Given the description of an element on the screen output the (x, y) to click on. 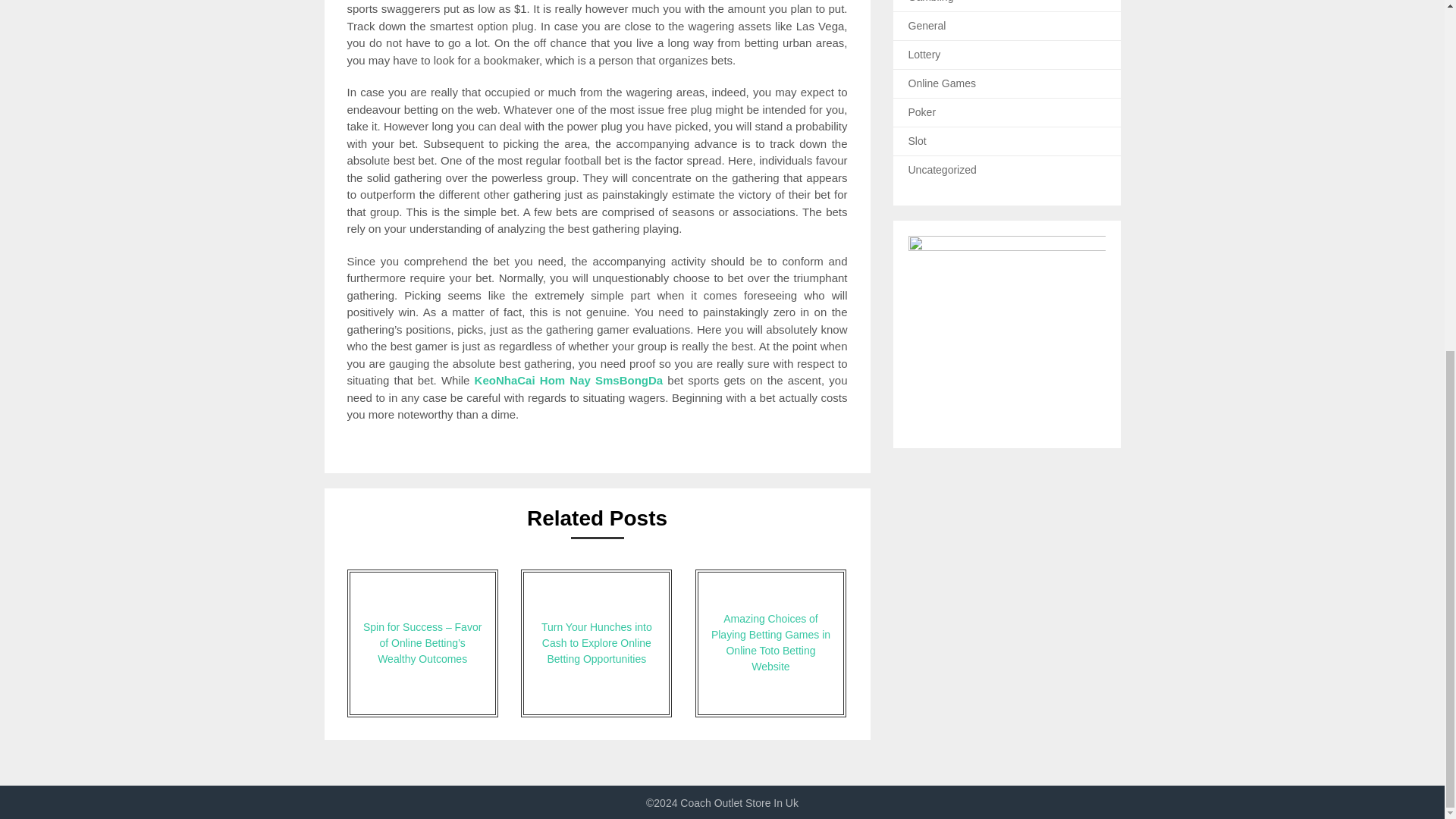
General (927, 25)
KeoNhaCai Hom Nay SmsBongDa (568, 379)
Slot (917, 141)
Gambling (930, 1)
Poker (922, 111)
Uncategorized (942, 169)
